Given the description of an element on the screen output the (x, y) to click on. 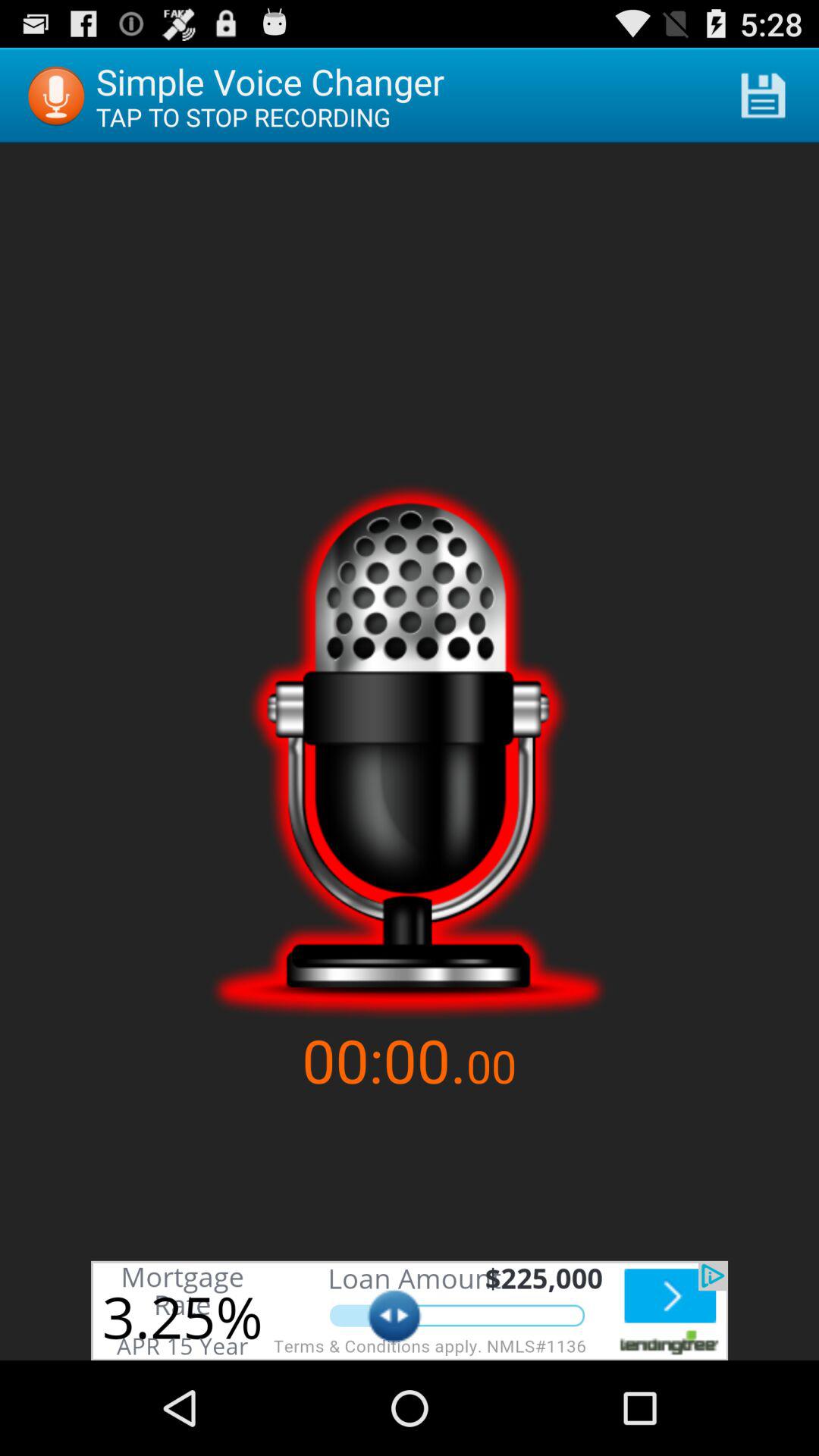
go to record (408, 751)
